Given the description of an element on the screen output the (x, y) to click on. 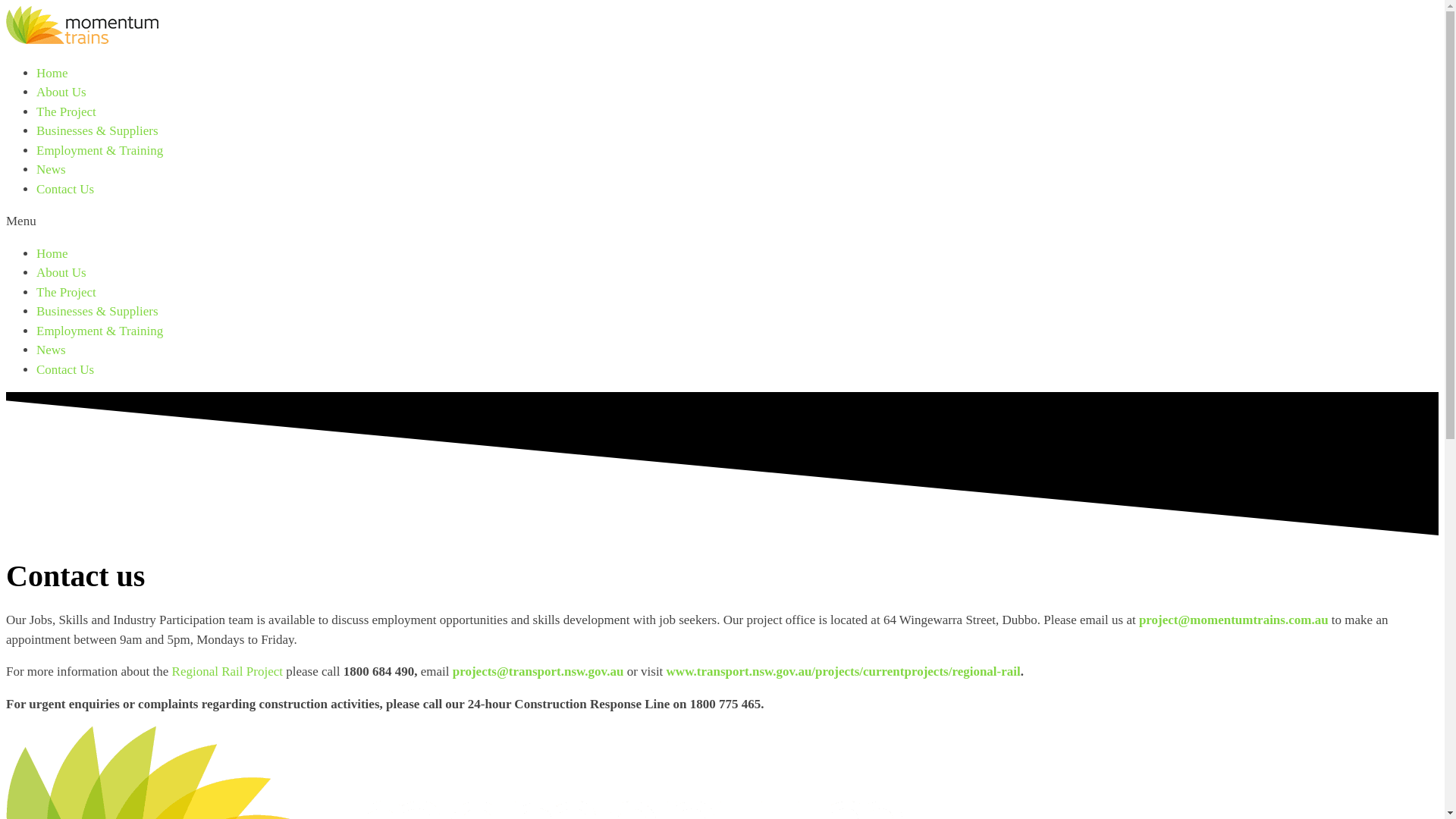
Contact Us Element type: text (65, 369)
News Element type: text (50, 169)
The Project Element type: text (66, 292)
About Us Element type: text (61, 91)
Employment & Training Element type: text (99, 149)
About Us Element type: text (61, 272)
Businesses & Suppliers Element type: text (97, 130)
projects@transport.nsw.gov.au  Element type: text (539, 671)
Employment & Training Element type: text (99, 330)
Home Element type: text (52, 72)
Businesses & Suppliers Element type: text (97, 311)
momentumtrains.com.au-201 Element type: hover (82, 25)
Contact Us Element type: text (65, 189)
The Project Element type: text (66, 111)
project@momentumtrains.com.au Element type: text (1233, 619)
Home Element type: text (52, 252)
News Element type: text (50, 349)
Regional Rail Project Element type: text (227, 671)
